Given the description of an element on the screen output the (x, y) to click on. 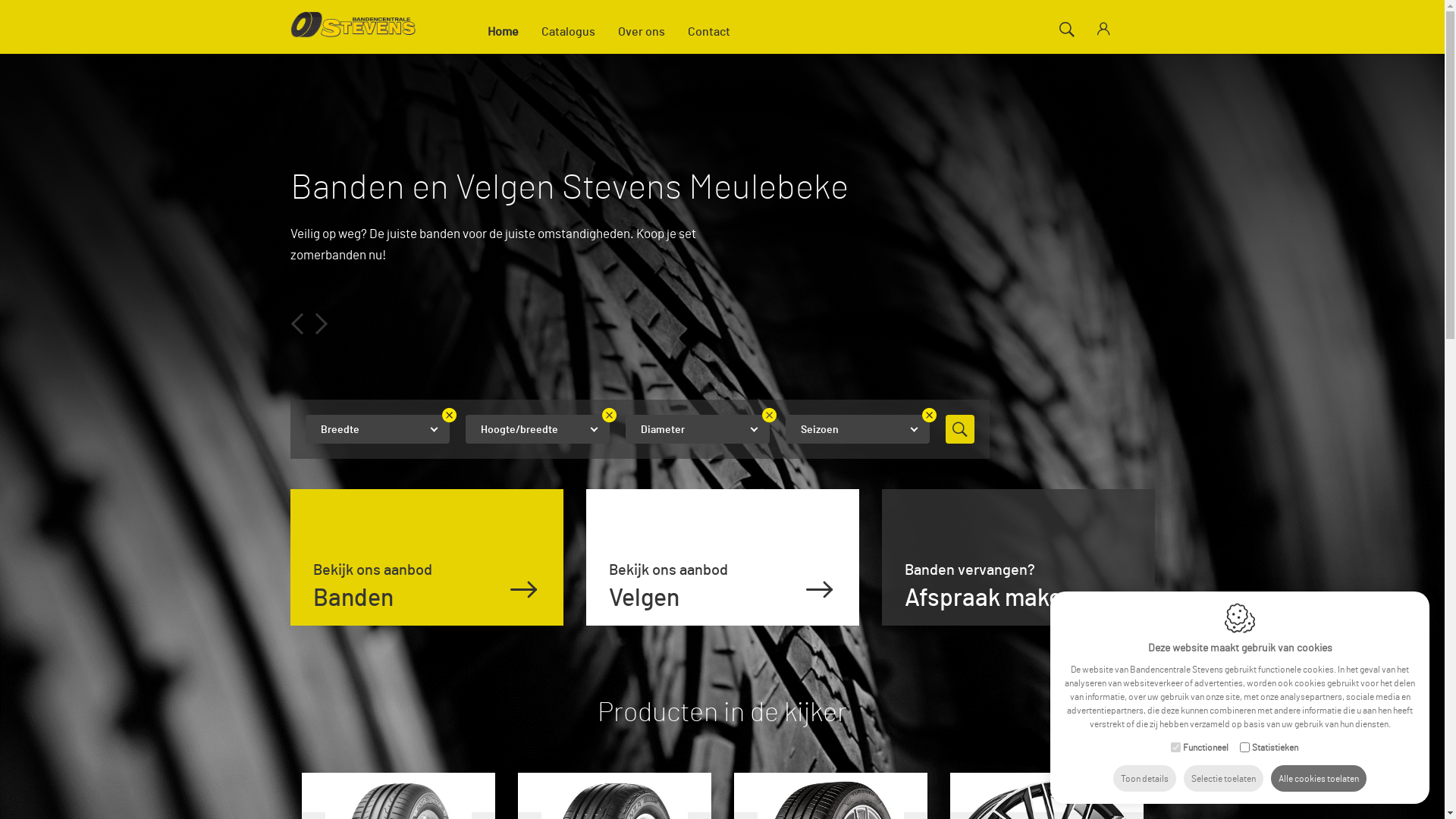
Home Element type: text (503, 30)
Bekijk ons aanbod
Banden Element type: text (425, 557)
Next Element type: text (312, 320)
Catalogus Element type: text (567, 30)
Over ons Element type: text (641, 30)
Banden vervangen?
Afspraak maken Element type: text (1017, 557)
seizoen Element type: text (857, 428)
hoogte/breedte Element type: text (537, 428)
breedte Element type: text (376, 428)
Previous Element type: text (297, 320)
Toon details Element type: text (1144, 778)
diameter Element type: text (696, 428)
Bekijk ons aanbod
Velgen Element type: text (721, 557)
Contact Element type: text (708, 30)
